Given the description of an element on the screen output the (x, y) to click on. 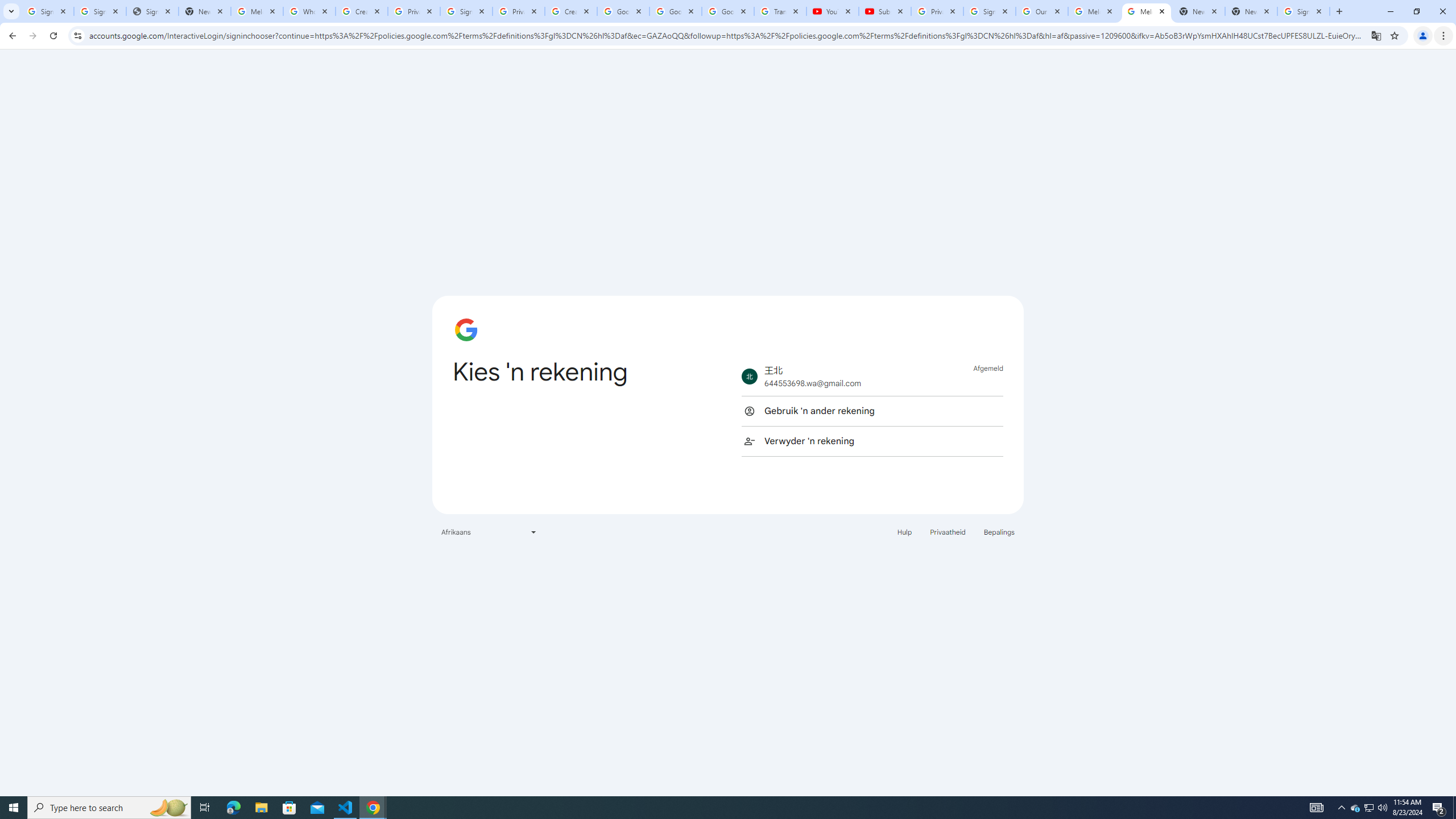
Bepalings (999, 531)
Subscriptions - YouTube (884, 11)
